Given the description of an element on the screen output the (x, y) to click on. 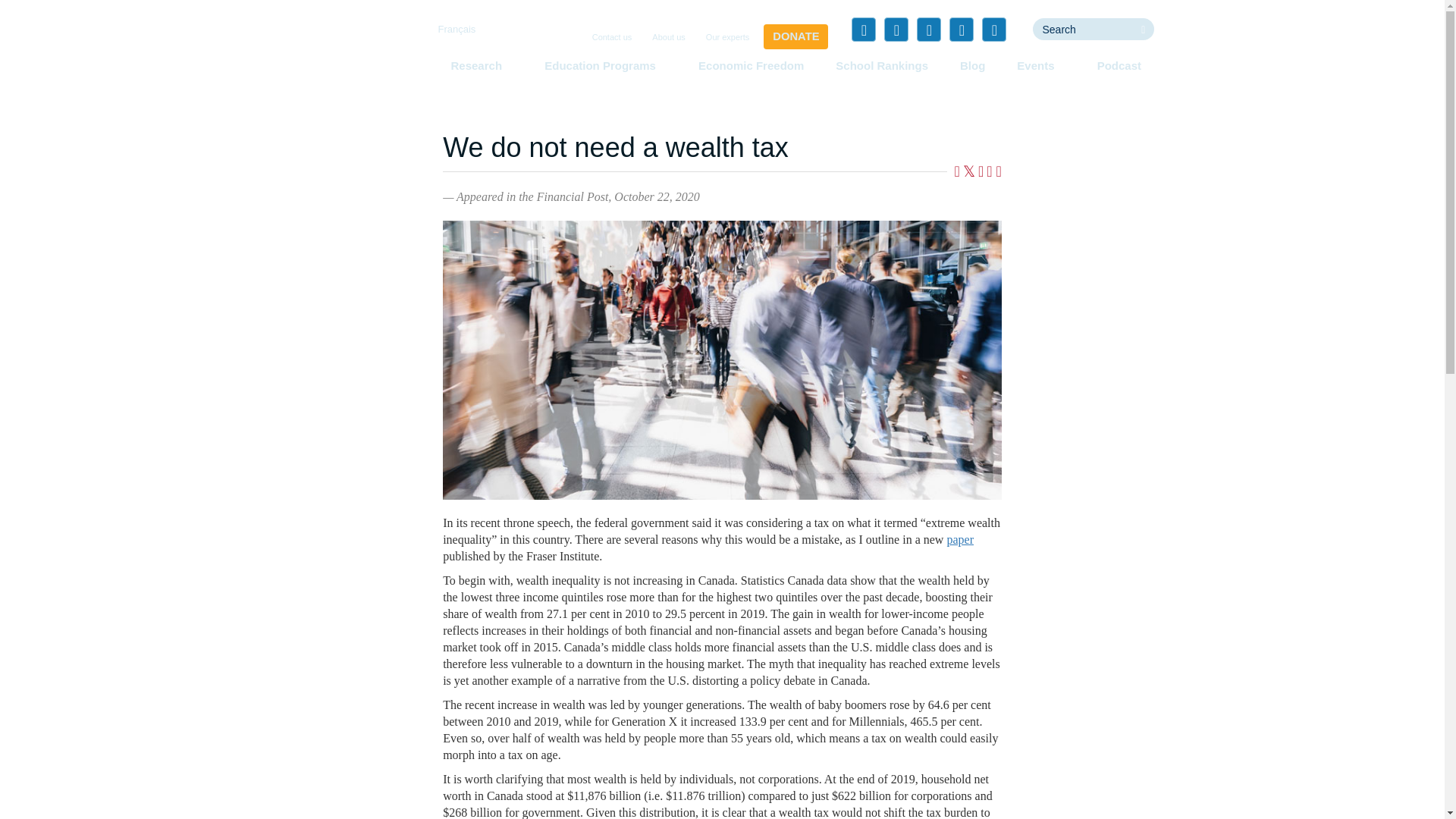
Our experts (727, 37)
YouTube (961, 29)
School Rankings (882, 65)
Home (352, 56)
Contact us (612, 37)
Research (481, 65)
Facebook (863, 29)
DONATE (795, 36)
Enter the terms you wish to search for. (1082, 29)
Twitter (895, 29)
Instagram (993, 29)
LinkedIn (928, 29)
About us (668, 37)
